Given the description of an element on the screen output the (x, y) to click on. 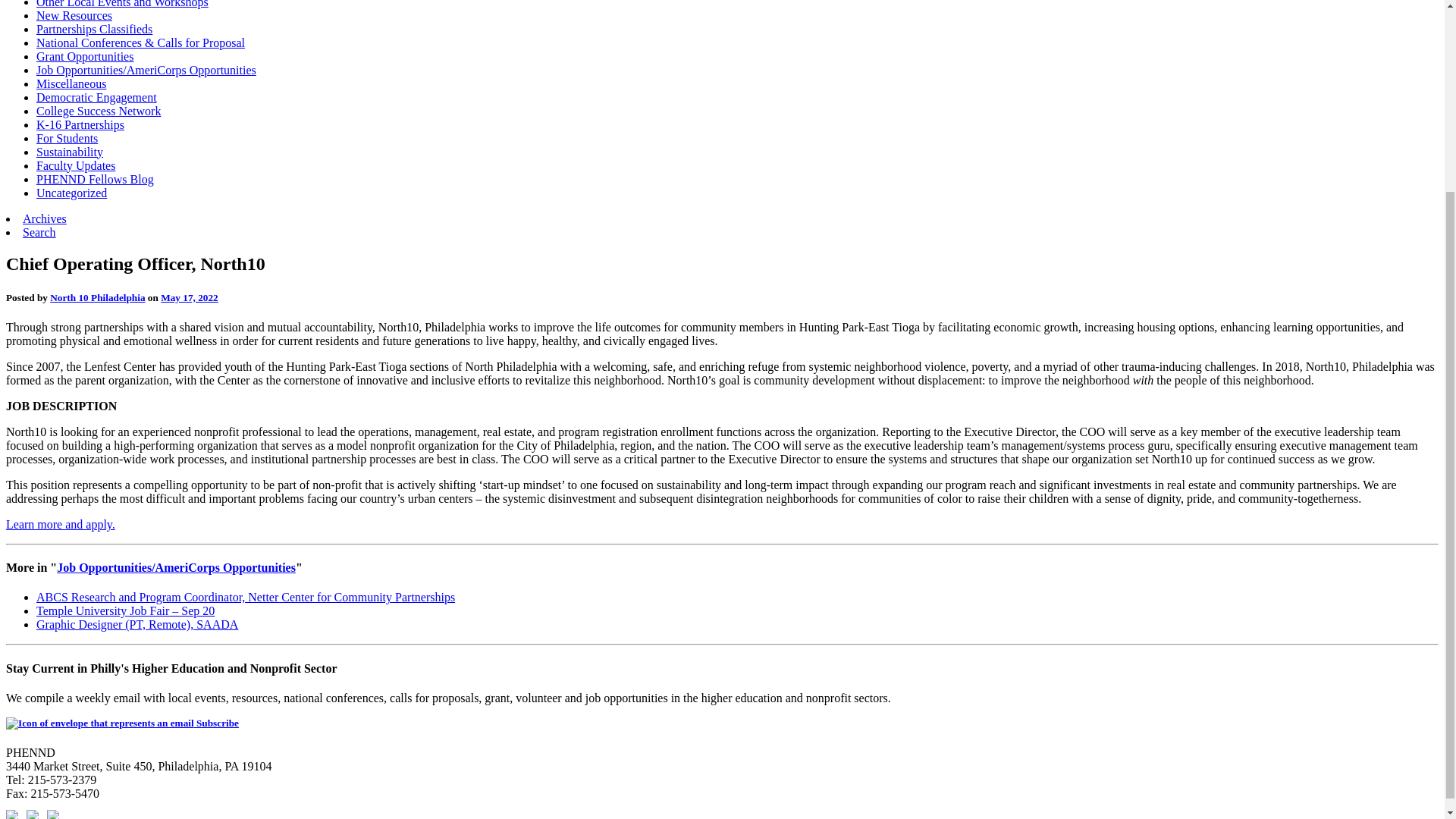
Archives (44, 218)
For Students (66, 137)
Faculty Updates (75, 164)
Search (39, 232)
Sustainability (69, 151)
New Resources (74, 15)
Grant Opportunities (84, 56)
Democratic Engagement (96, 97)
PHENND Fellows Blog (95, 178)
Uncategorized (71, 192)
